Given the description of an element on the screen output the (x, y) to click on. 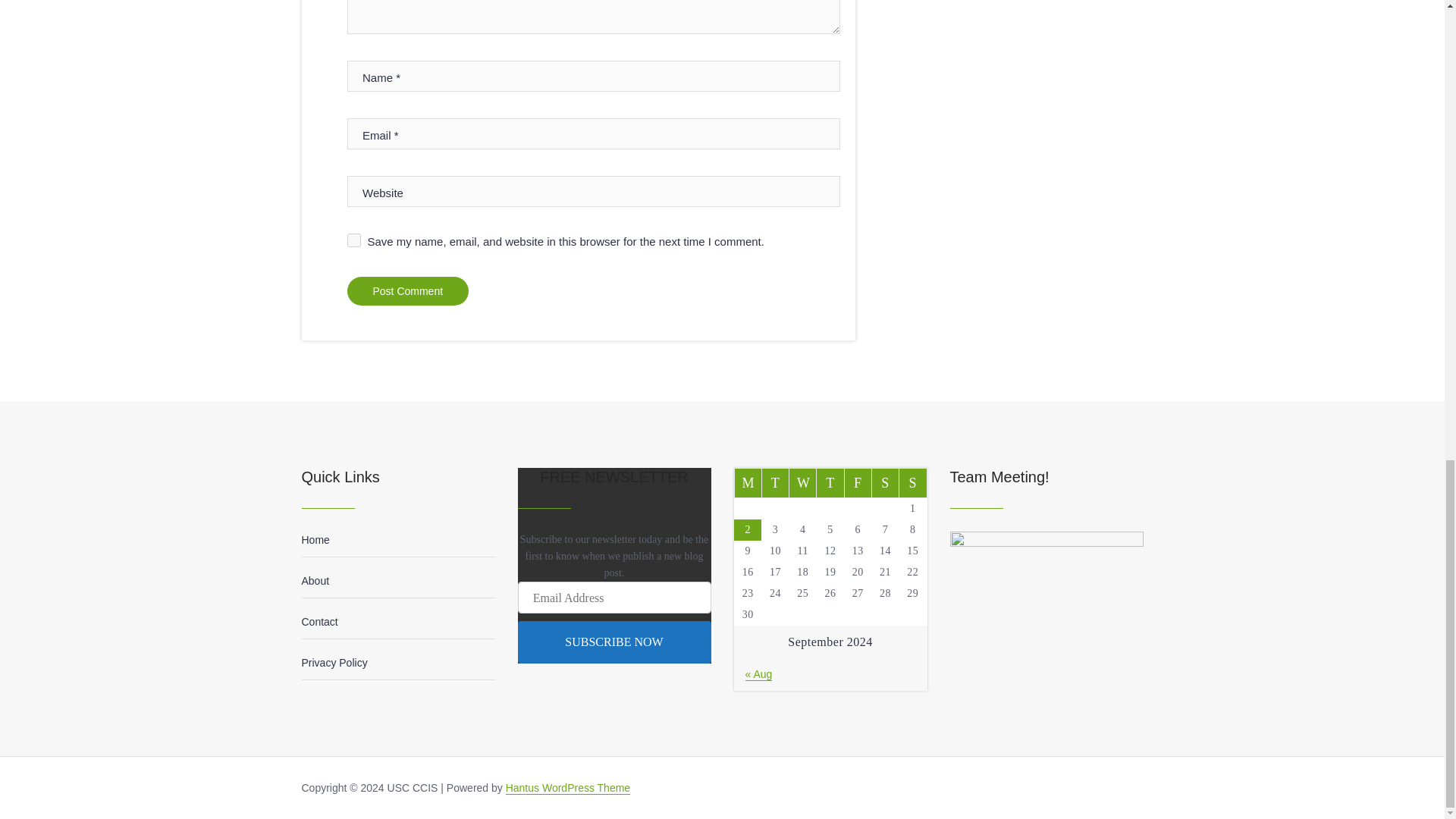
Privacy Policy (334, 662)
Post Comment (407, 290)
SUBSCRIBE NOW (613, 641)
Post Comment (407, 290)
yes (354, 240)
SUBSCRIBE NOW (613, 641)
Home (315, 539)
About (315, 580)
Contact (319, 621)
